Given the description of an element on the screen output the (x, y) to click on. 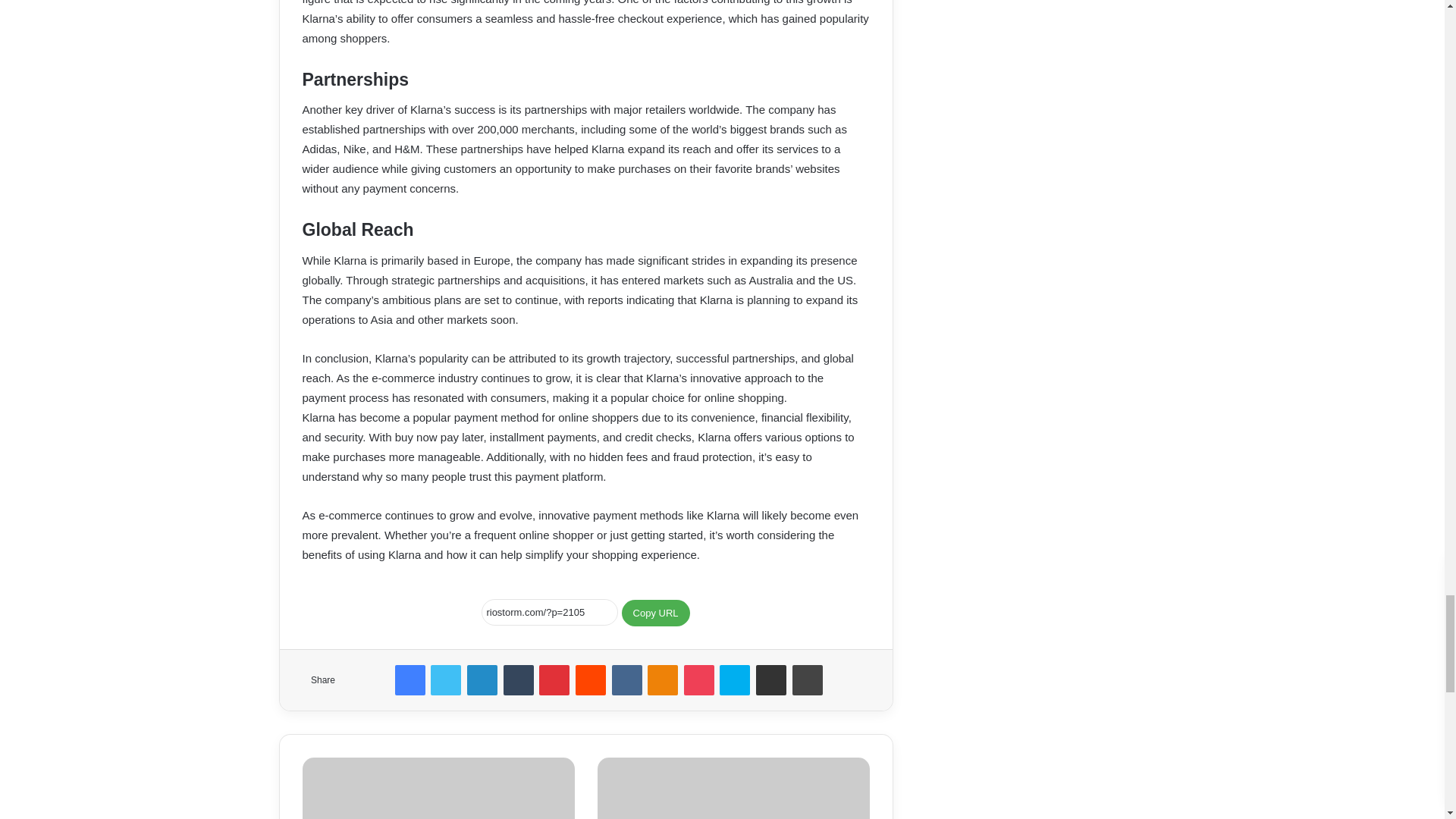
Copy URL (655, 612)
